Given the description of an element on the screen output the (x, y) to click on. 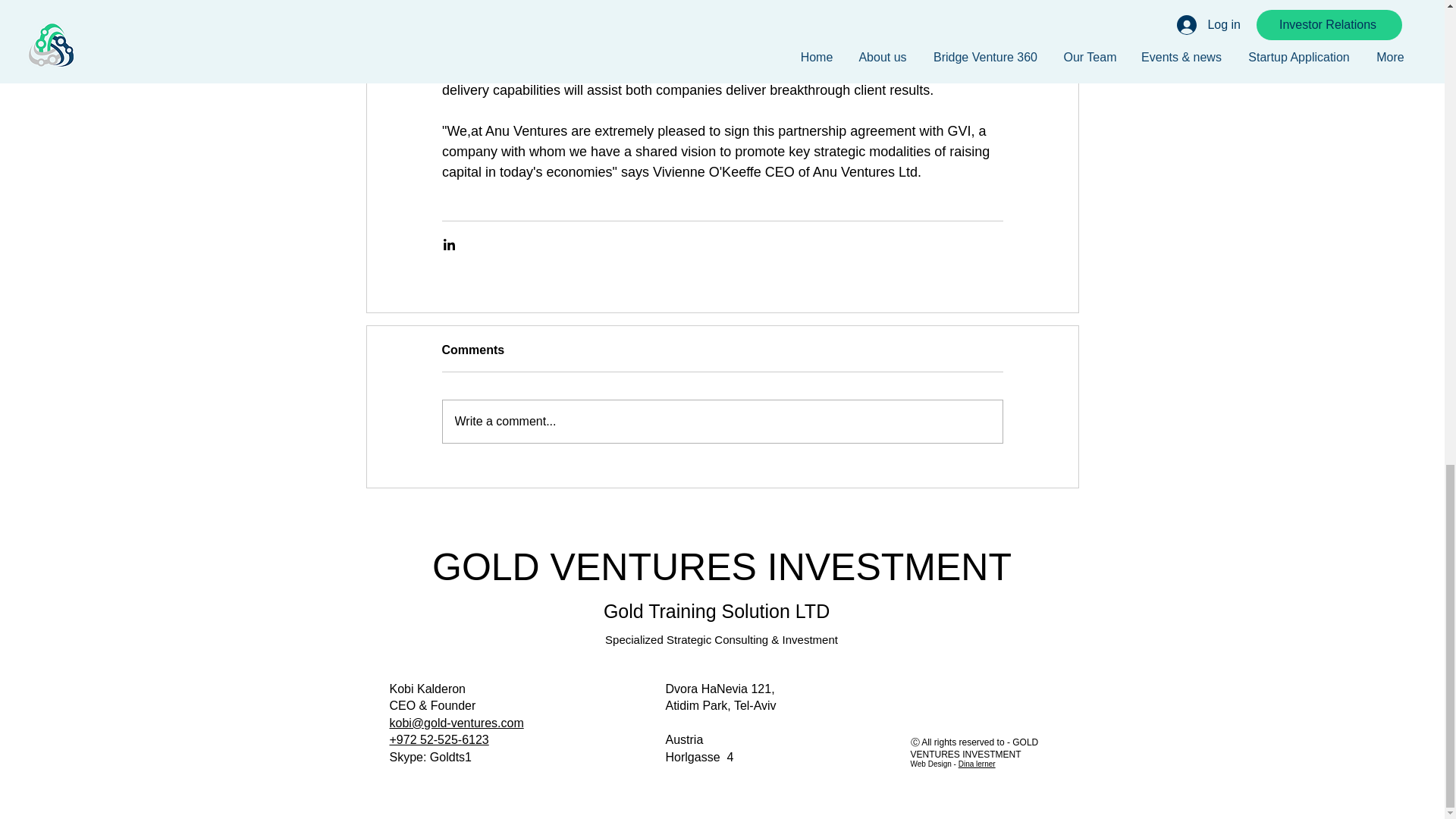
Dina lerner (976, 764)
Write a comment... (722, 421)
